Given the description of an element on the screen output the (x, y) to click on. 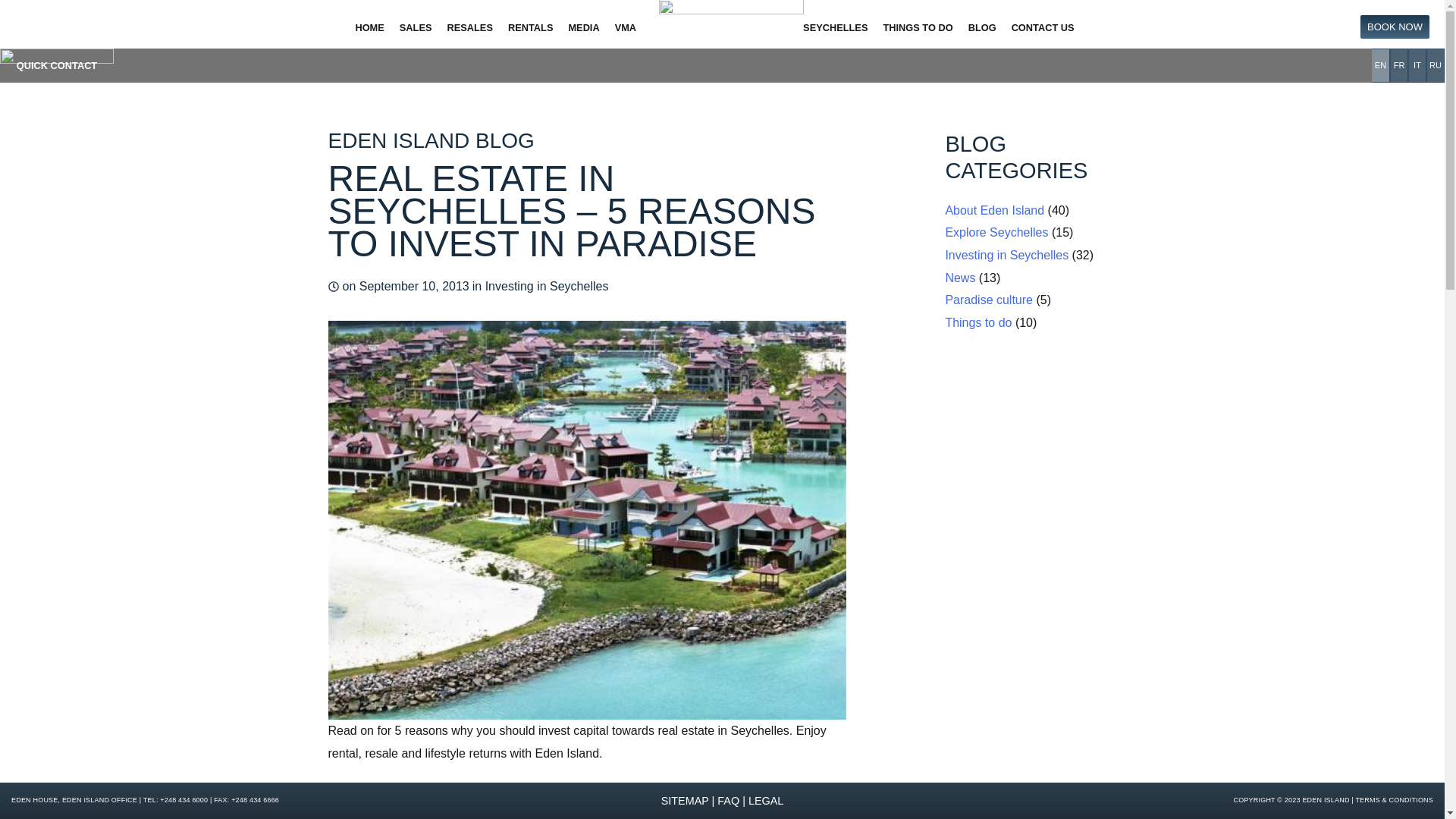
Real Estate in Seychelles - 5 Reasons to Invest in Paradise (586, 623)
VMA (625, 27)
MEDIA (583, 27)
SALES (415, 27)
RESALES (469, 27)
HOME (369, 27)
RENTALS (530, 27)
